Given the description of an element on the screen output the (x, y) to click on. 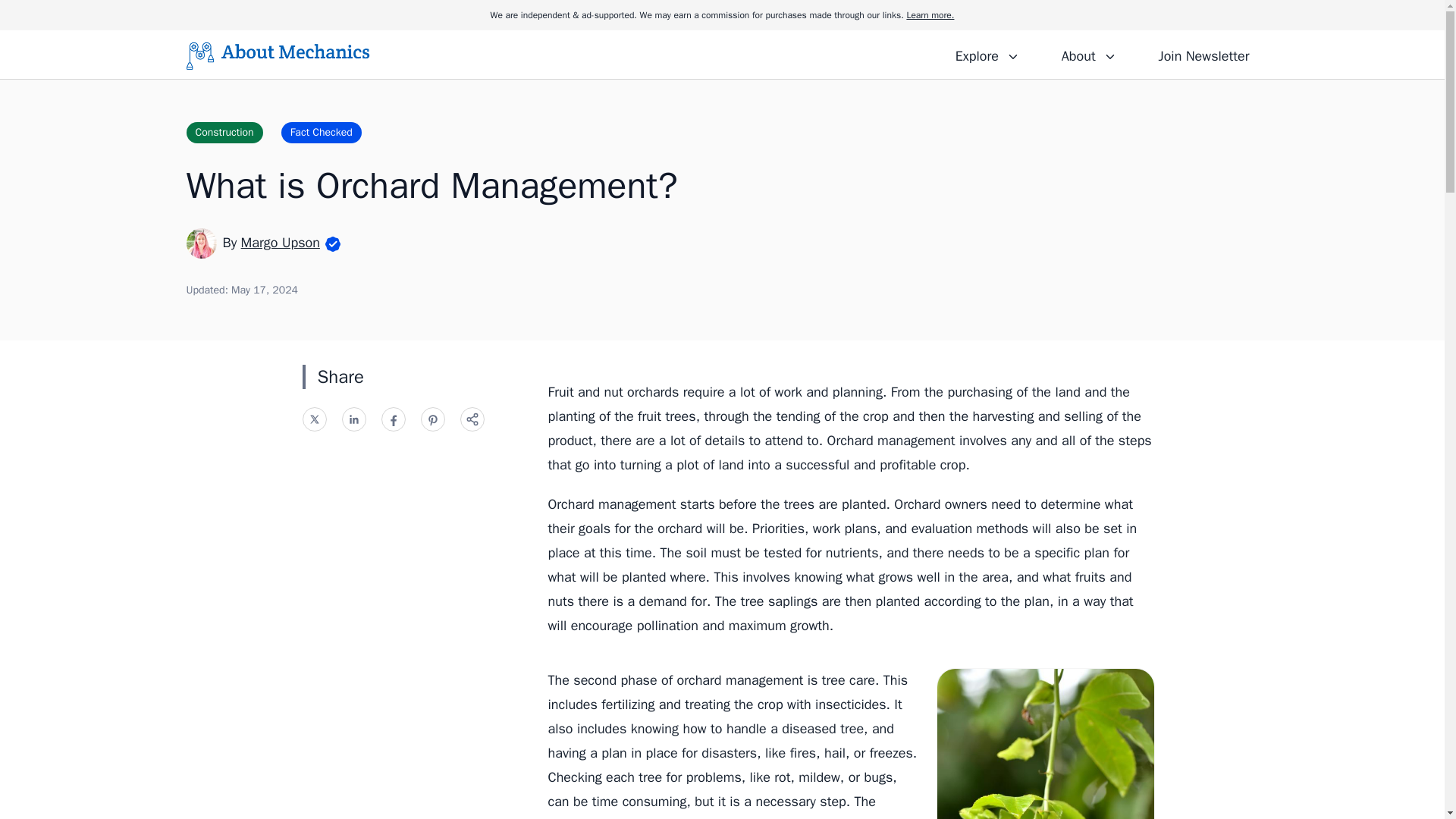
Learn more. (929, 15)
Fact Checked (321, 132)
Explore (986, 54)
About (1088, 54)
Margo Upson (280, 242)
Join Newsletter (1202, 54)
Construction (224, 132)
